Given the description of an element on the screen output the (x, y) to click on. 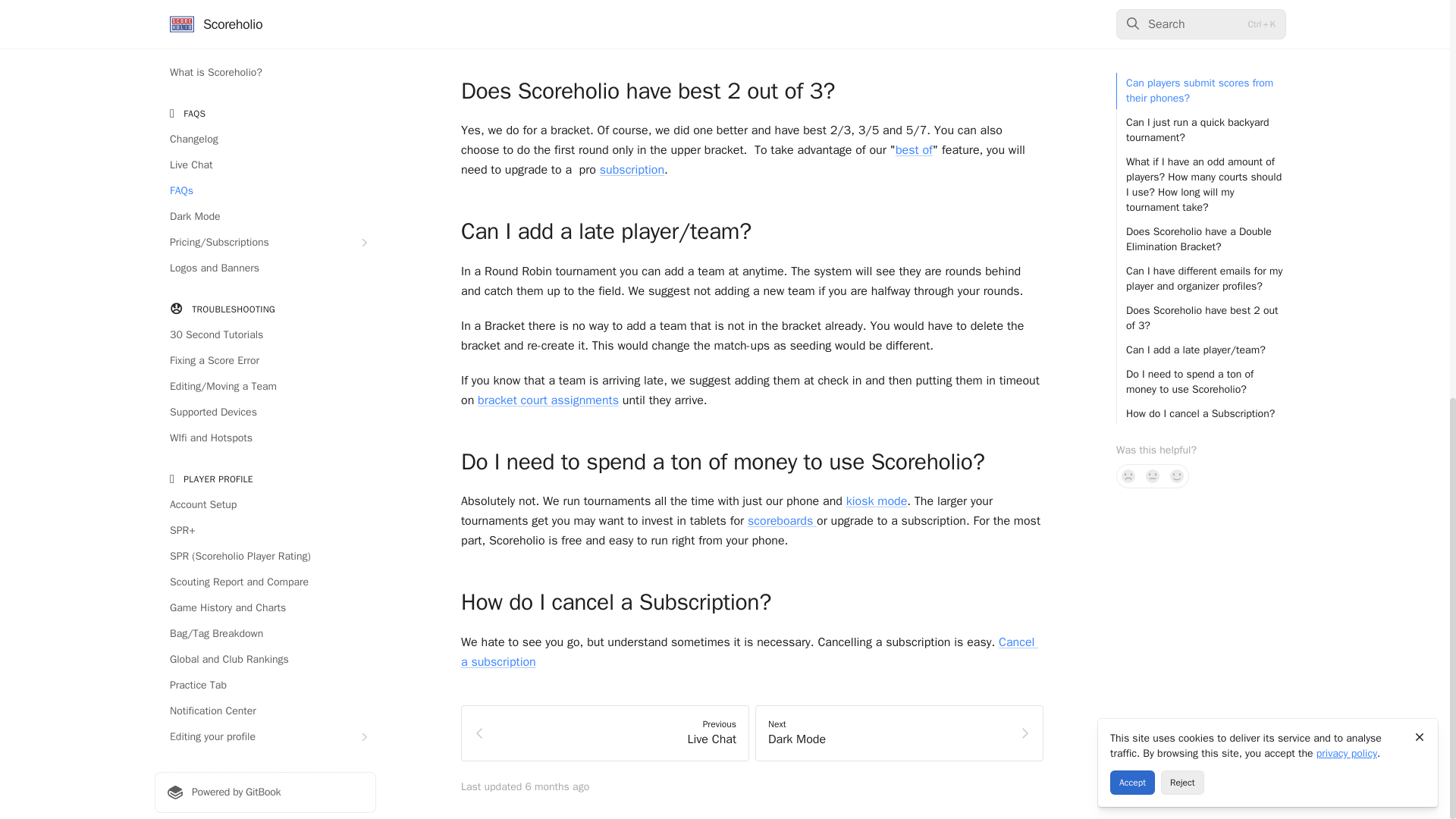
Organizer Contact Information (264, 79)
Team Generation (264, 197)
Search for a Tournament (264, 27)
Share a Tournament (264, 53)
Tournament Calculator (264, 146)
Tournament Formats (264, 171)
